Given the description of an element on the screen output the (x, y) to click on. 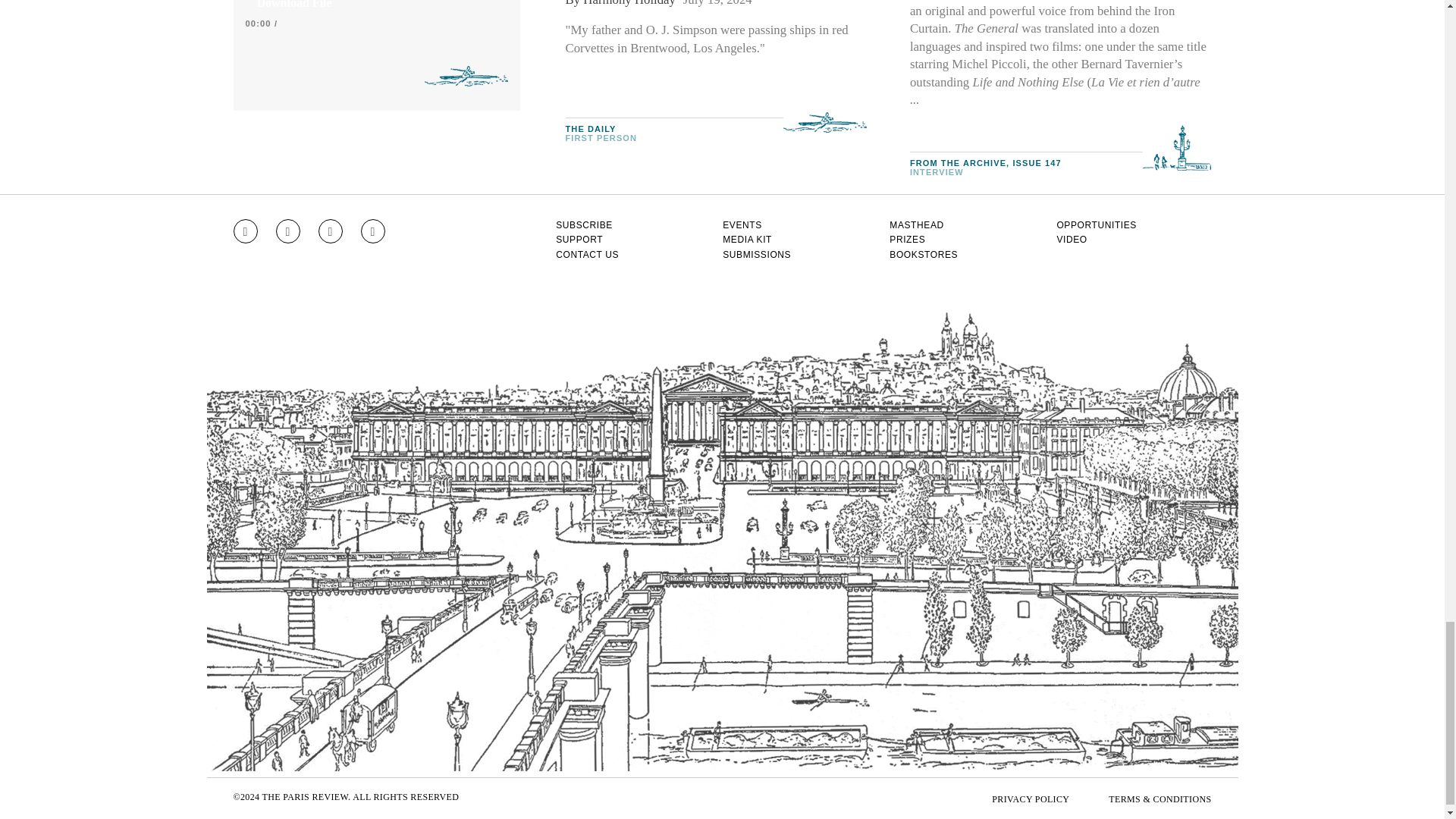
Go to RSS feed (373, 231)
Go to Instagram feed (244, 231)
Go to Facebook page (287, 231)
Go to Twitter feed (330, 231)
